Given the description of an element on the screen output the (x, y) to click on. 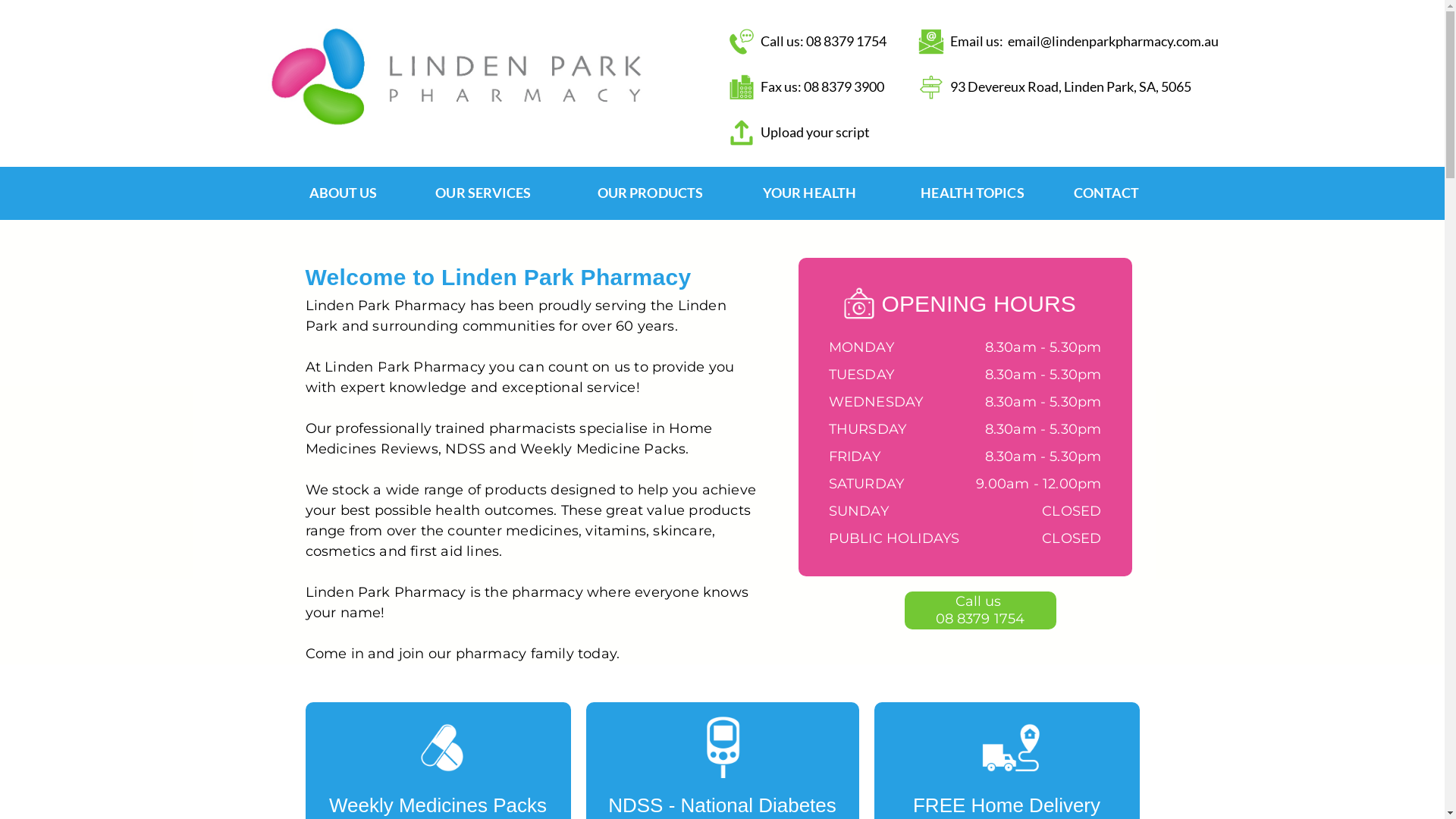
Upload your script Element type: text (835, 132)
Email us:  email@lindenparkpharmacy.com.au Element type: text (1093, 41)
OUR PRODUCTS Element type: text (649, 193)
HEALTH TOPICS Element type: text (971, 193)
CONTACT Element type: text (1101, 193)
ABOUT US Element type: text (342, 193)
Call us 
08 8379 1754 Element type: text (979, 610)
OUR SERVICES Element type: text (482, 193)
YOUR HEALTH Element type: text (808, 193)
93 Devereux Road, Linden Park, SA, 5065 Element type: text (1074, 87)
Call us: 08 8379 1754 Element type: text (835, 41)
